Given the description of an element on the screen output the (x, y) to click on. 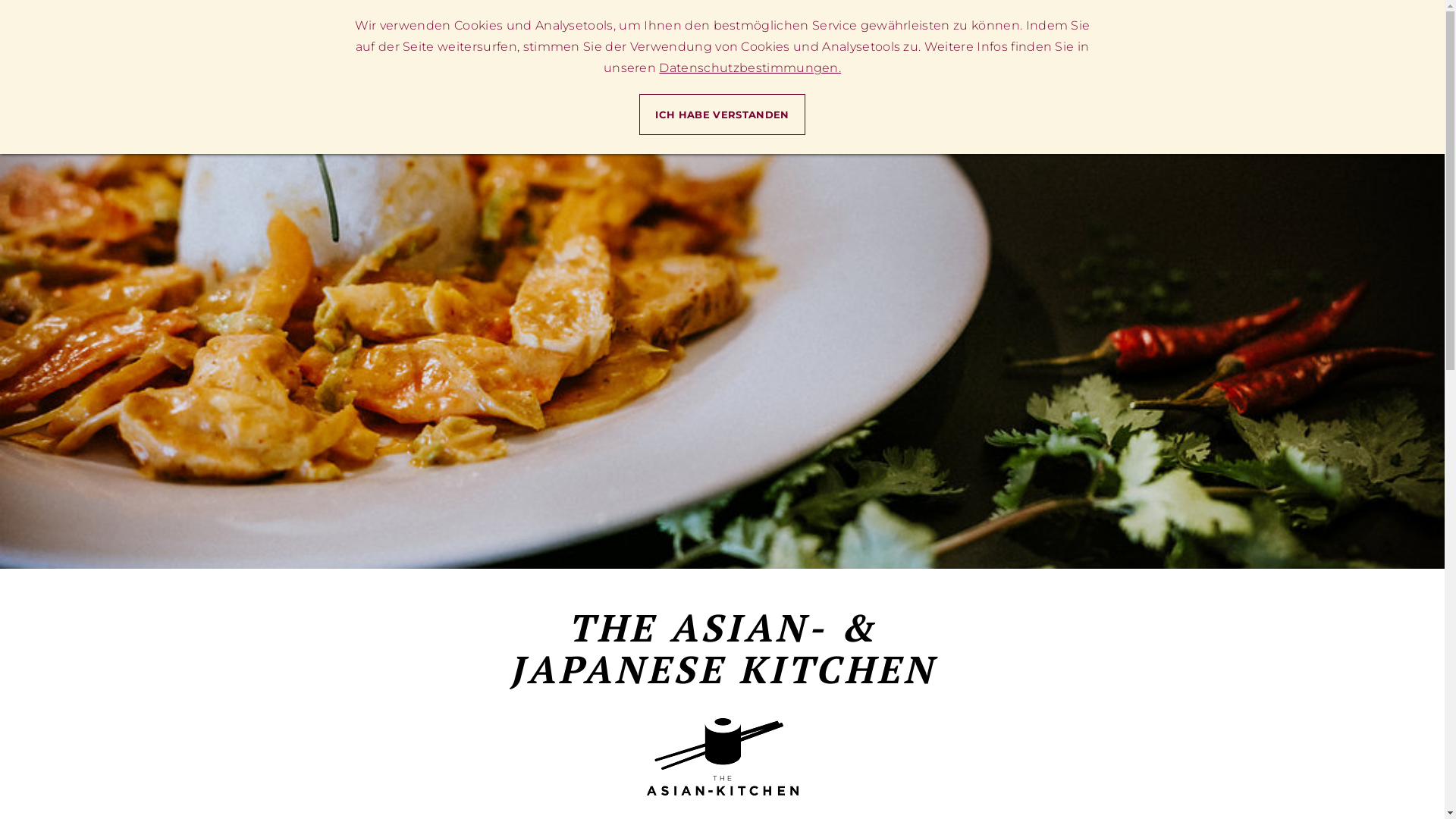
CURLING Element type: text (824, 61)
ICH HABE VERSTANDEN Element type: text (721, 114)
GUTSCHEINE Element type: text (1047, 61)
RESTAURANT Element type: text (741, 61)
ESSEN & TRINKEN Element type: text (522, 61)
SEMINARE & EVENTS Element type: text (930, 61)
Datenschutzbestimmungen. Element type: text (749, 67)
Mingerstrasse 16, Bern Element type: text (1079, 18)
ASIAN KITCHEN Element type: text (638, 61)
KONTAKT Element type: text (1130, 61)
